Given the description of an element on the screen output the (x, y) to click on. 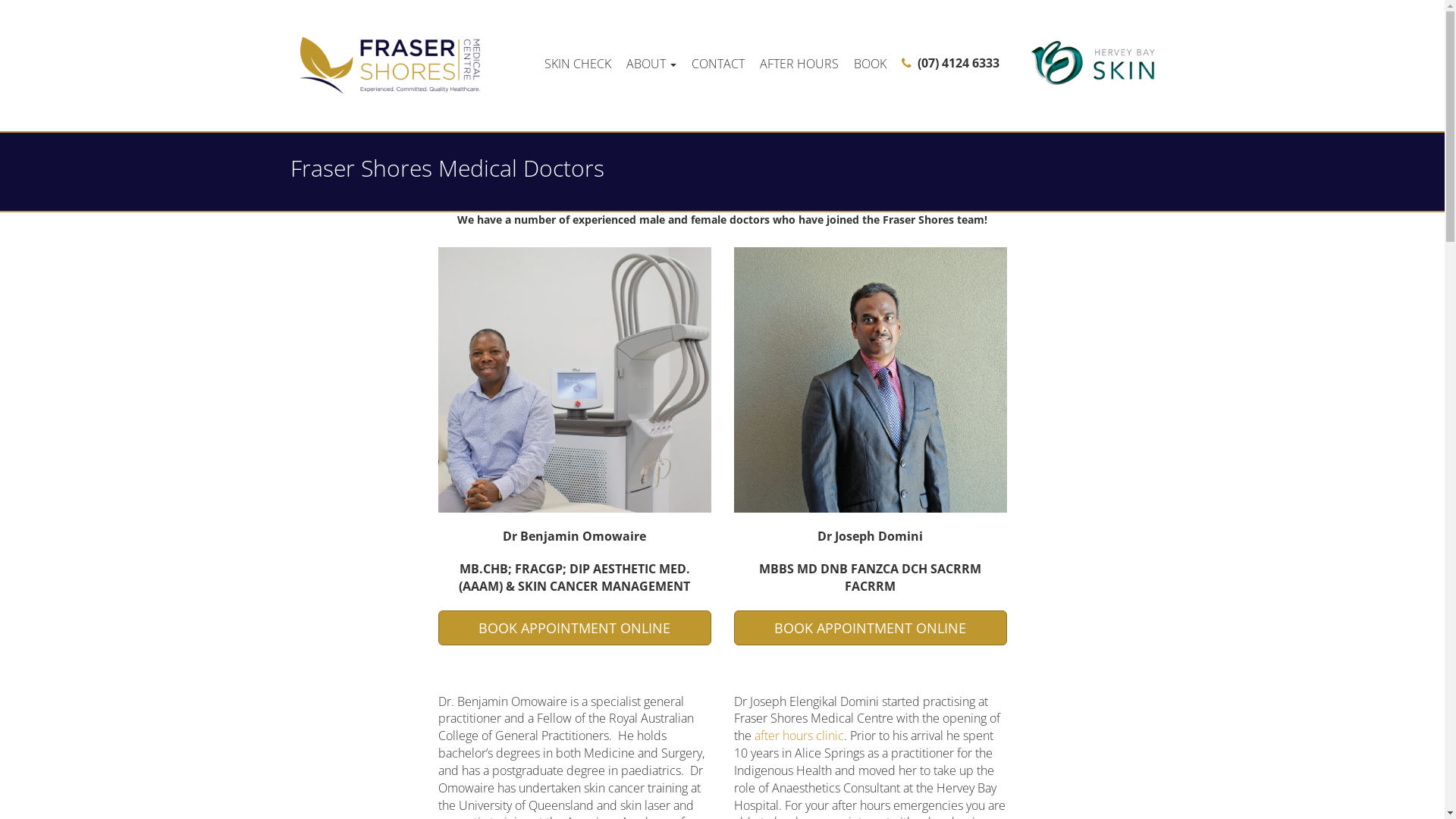
BOOK APPOINTMENT ONLINE Element type: text (574, 627)
SKIN CHECK Element type: text (577, 61)
ABOUT Element type: text (651, 61)
BOOK APPOINTMENT ONLINE Element type: text (870, 627)
after hours clinic Element type: text (798, 735)
AFTER HOURS Element type: text (799, 61)
CONTACT Element type: text (718, 61)
BOOK Element type: text (870, 61)
